Given the description of an element on the screen output the (x, y) to click on. 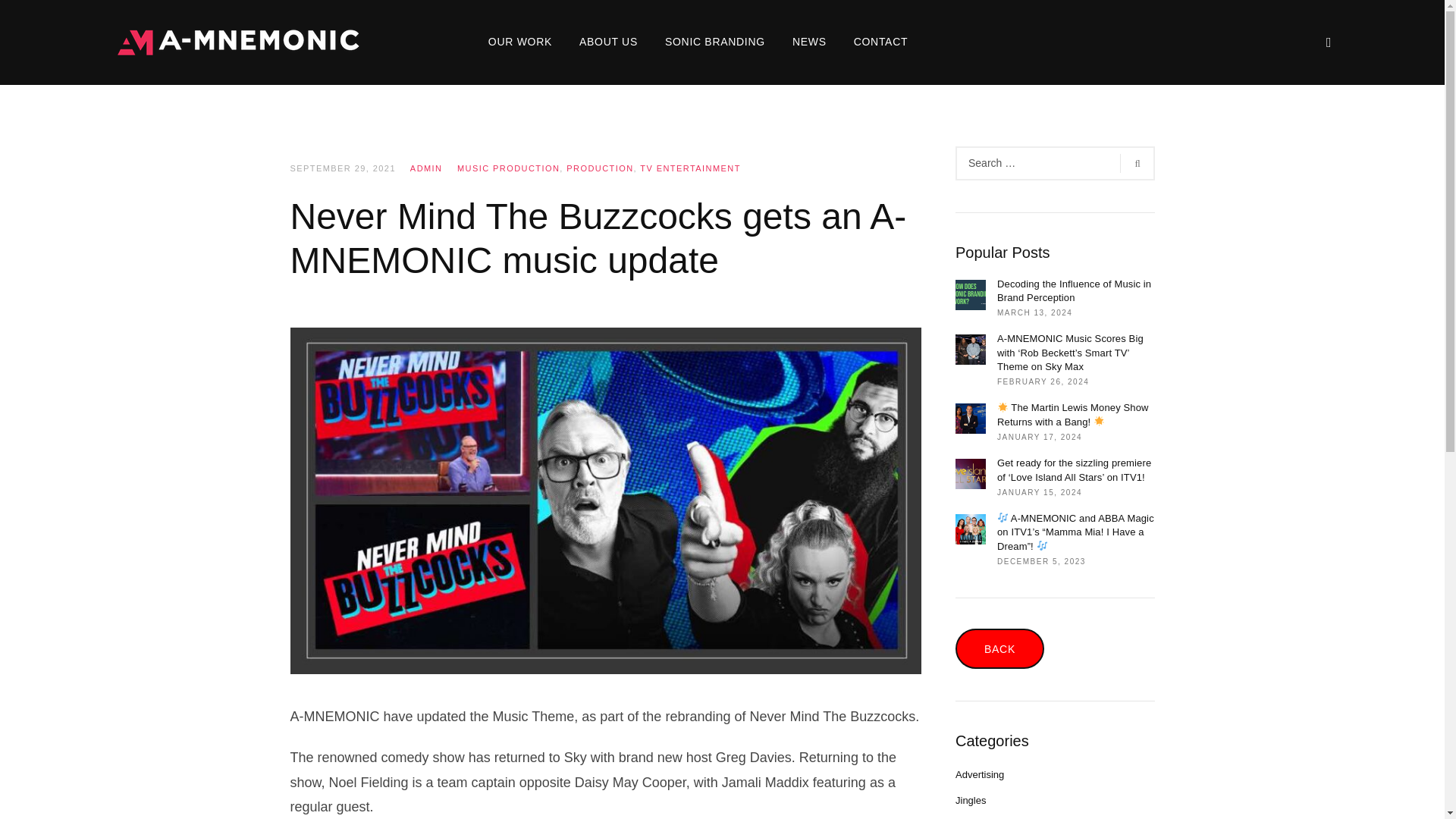
OUR WORK (520, 42)
Advertising (979, 774)
Decoding the Influence of Music in Brand Perception (1075, 290)
Decoding the Influence of Music in Brand Perception (853, 558)
Search (1126, 163)
Decoding the Influence of Music in Brand Perception (1075, 290)
TV ENTERTAINMENT (689, 167)
Jingles (970, 799)
The Martin Lewis Money Show Returns with a Bang! (1075, 414)
Back (999, 648)
ADMIN (426, 167)
SONIC BRANDING (714, 42)
NEWS (809, 42)
PRODUCTION (599, 167)
